Given the description of an element on the screen output the (x, y) to click on. 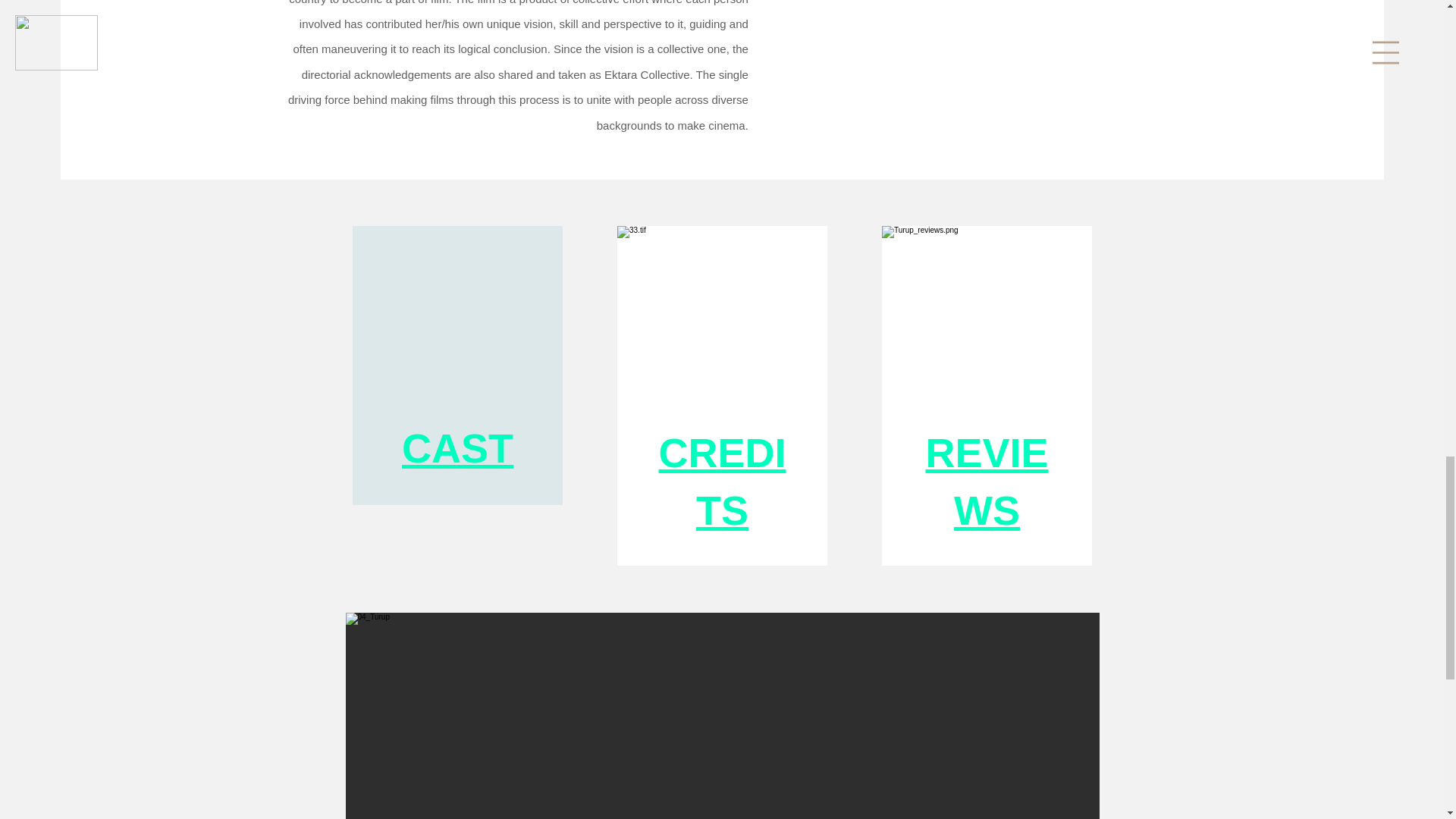
CAST (457, 447)
REVIEWS (986, 481)
CREDITS (722, 481)
